Given the description of an element on the screen output the (x, y) to click on. 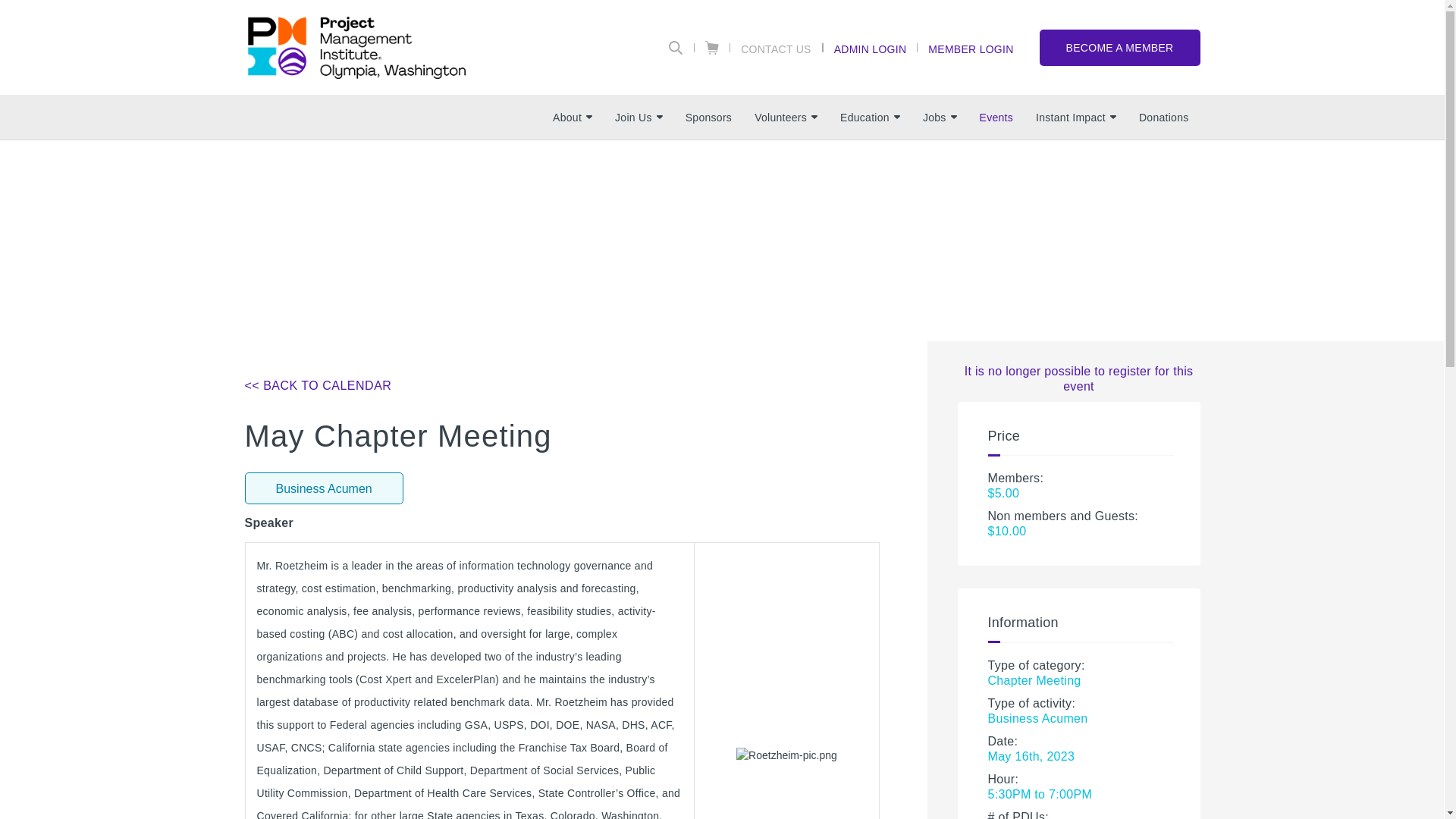
About (572, 117)
Donations (1162, 117)
Events (996, 117)
Jobs (939, 117)
Search (676, 47)
Join Us (639, 117)
MEMBER LOGIN (970, 47)
Instant Impact (1075, 117)
ADMIN LOGIN (870, 47)
CONTACT US (776, 47)
Volunteers (785, 117)
BECOME A MEMBER (1119, 46)
Education (869, 117)
Sponsors (708, 117)
